Given the description of an element on the screen output the (x, y) to click on. 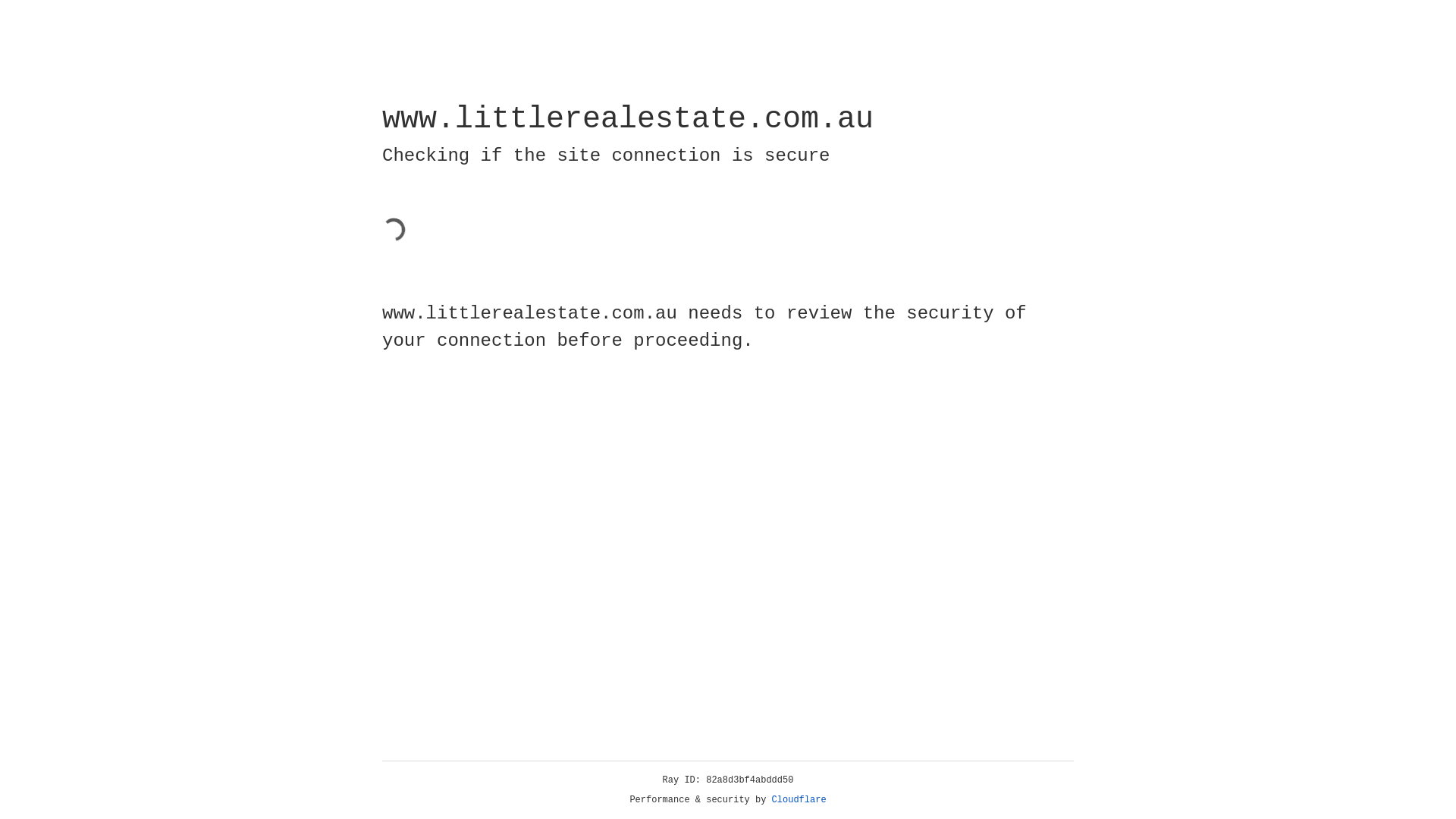
Cloudflare Element type: text (798, 799)
